Given the description of an element on the screen output the (x, y) to click on. 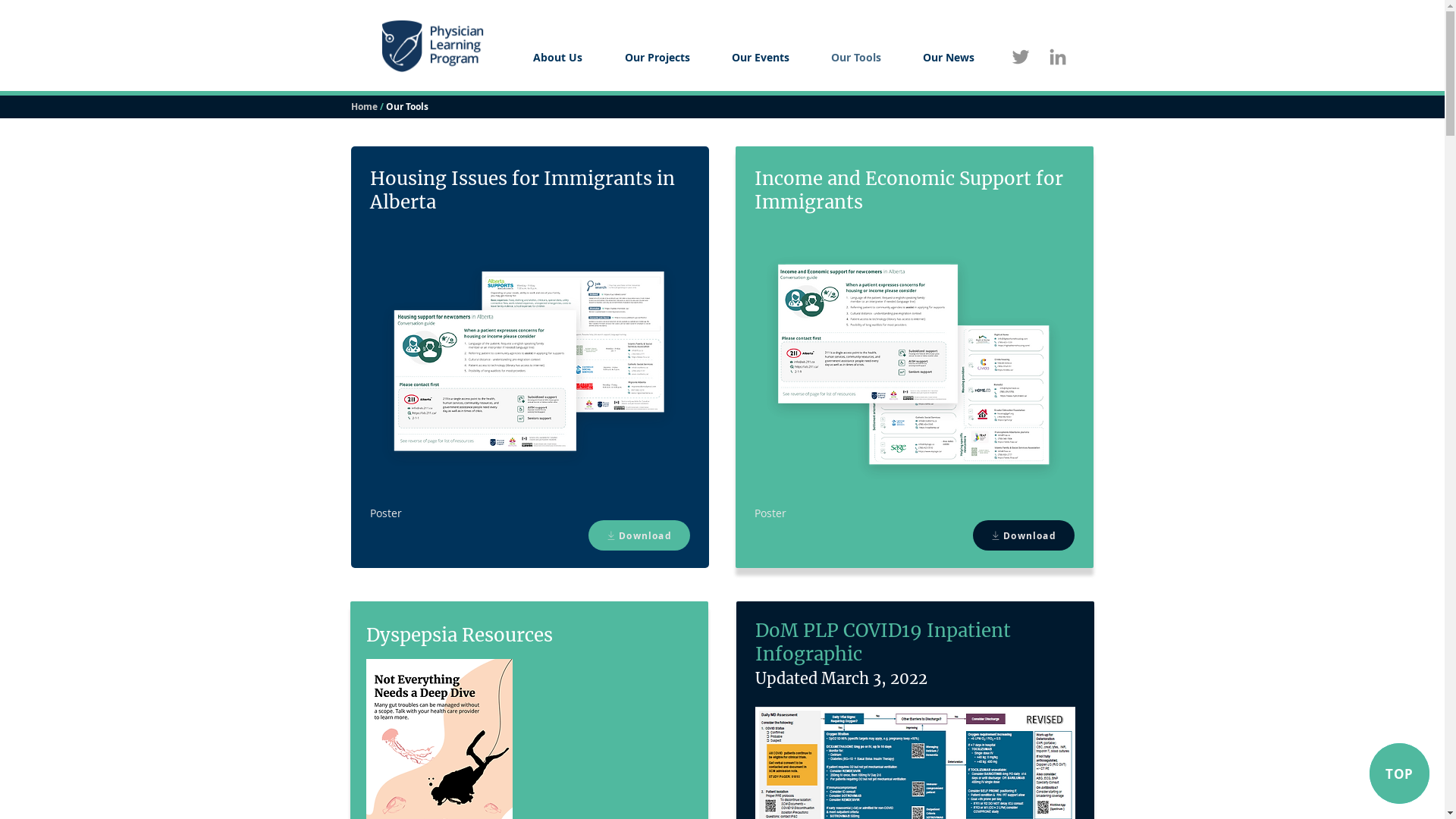
Download Element type: text (639, 535)
Our Events Element type: text (760, 57)
Home Element type: text (363, 106)
Download Element type: text (1022, 535)
Our Projects Element type: text (657, 57)
TOP Element type: text (1399, 773)
Our News Element type: text (948, 57)
About Us Element type: text (556, 57)
Our Tools Element type: text (855, 57)
